Given the description of an element on the screen output the (x, y) to click on. 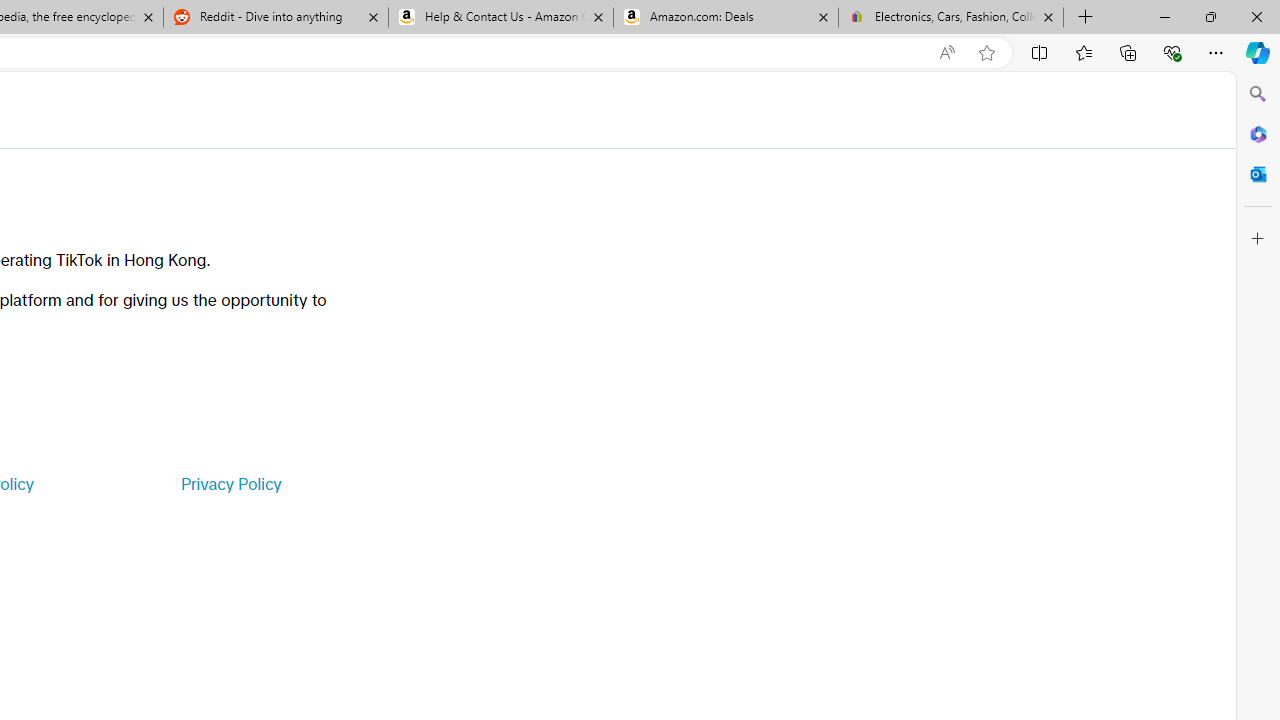
Customize (1258, 239)
Reddit - Dive into anything (275, 17)
Electronics, Cars, Fashion, Collectibles & More | eBay (950, 17)
Close Outlook pane (1258, 174)
